Given the description of an element on the screen output the (x, y) to click on. 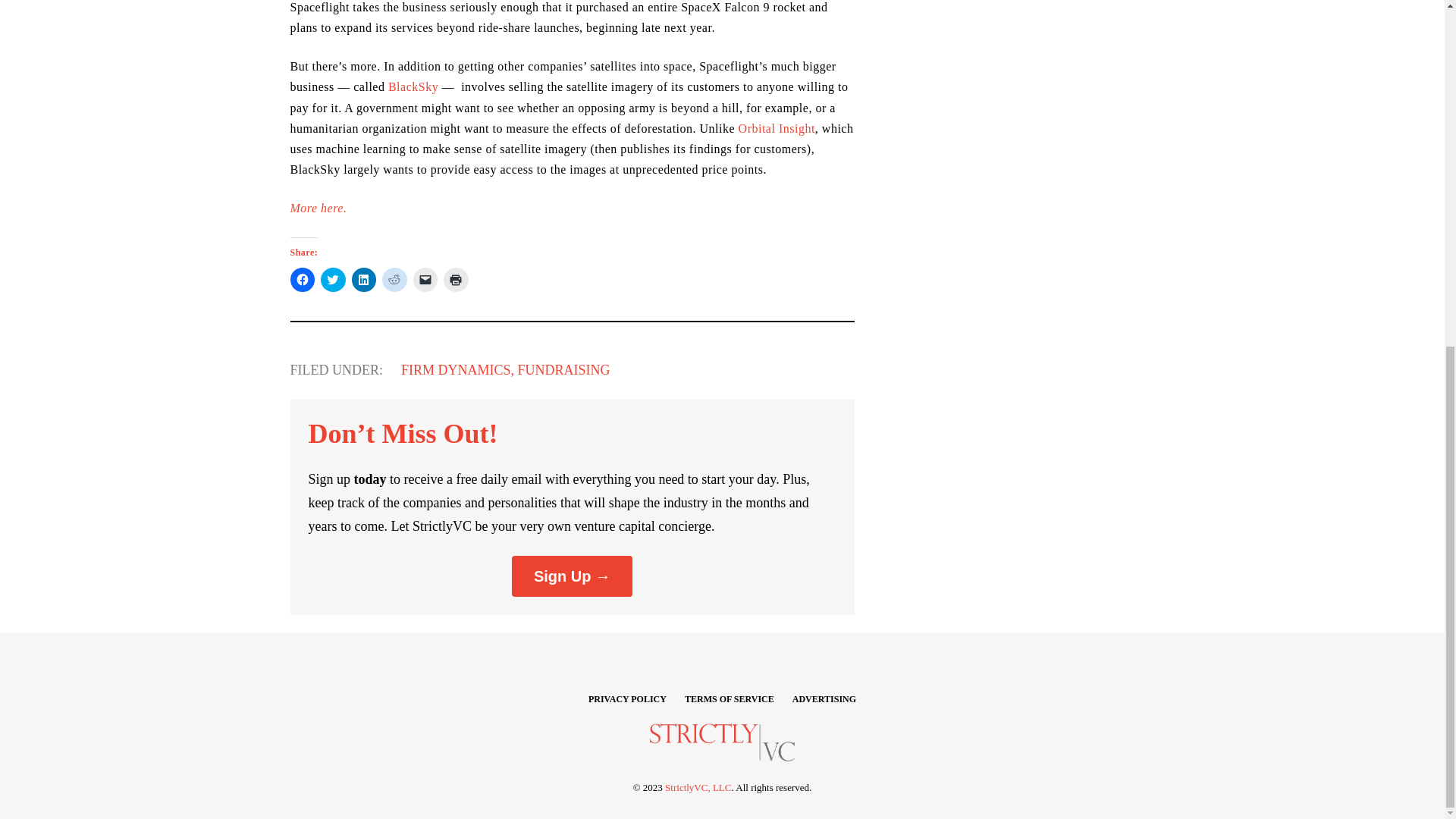
Click to share on Reddit (394, 279)
Click to email a link to a friend (425, 279)
TERMS OF SERVICE (729, 699)
Click to share on LinkedIn (364, 279)
Orbital Insight (776, 128)
Click to share on Facebook (301, 279)
BlackSky (413, 86)
Click to share on Twitter (333, 279)
ADVERTISING (824, 699)
FIRM DYNAMICS (456, 369)
PRIVACY POLICY (627, 699)
Click to print (456, 279)
FUNDRAISING (564, 369)
StrictlyVC, LLC (697, 787)
More here. (317, 207)
